Given the description of an element on the screen output the (x, y) to click on. 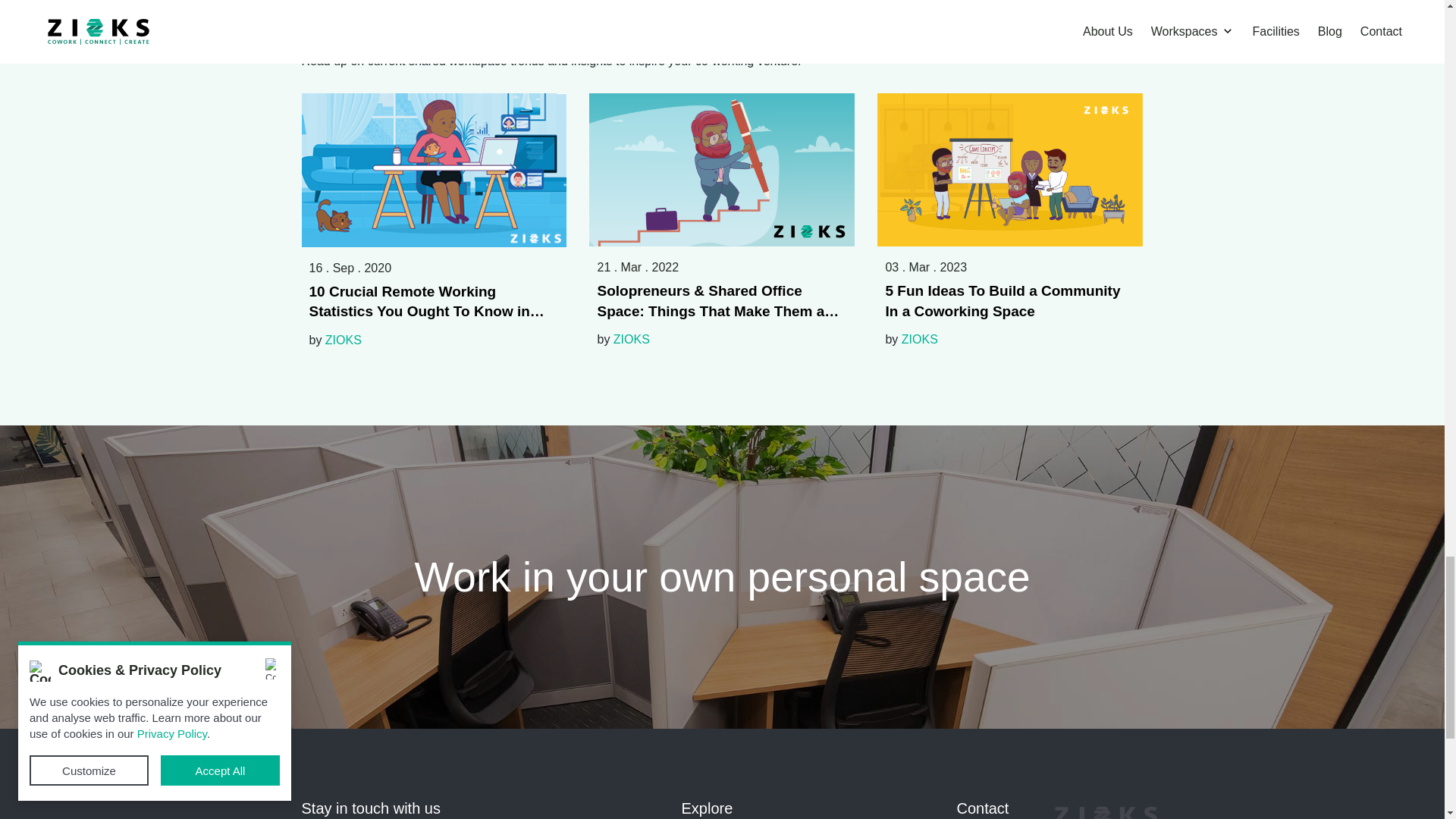
ZIOKS (919, 338)
ZIOKS (342, 339)
ZIOKS (630, 338)
5 Fun Ideas To Build a Community In a Coworking Space (1010, 301)
